Given the description of an element on the screen output the (x, y) to click on. 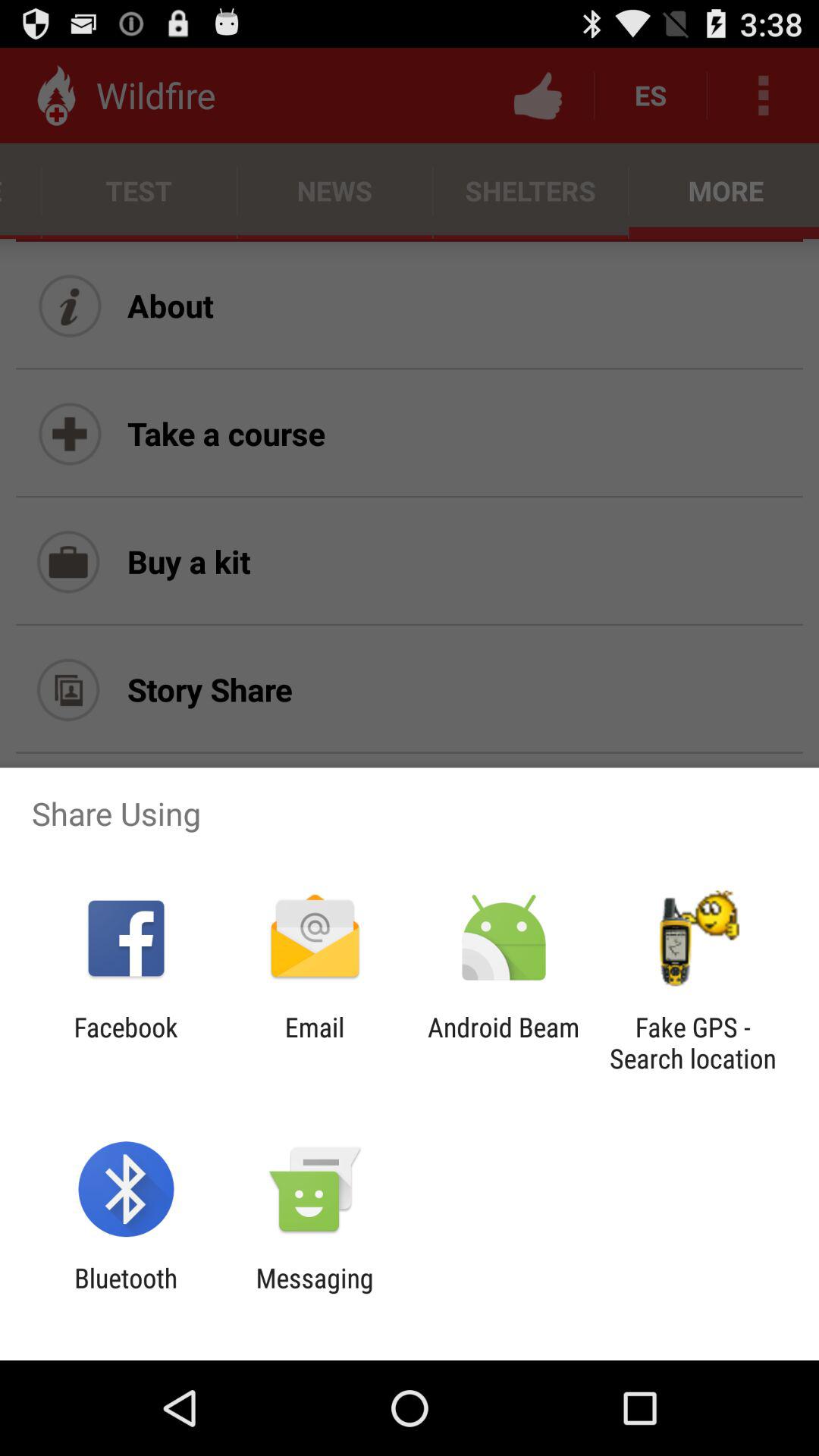
turn off app to the right of the bluetooth icon (314, 1293)
